Given the description of an element on the screen output the (x, y) to click on. 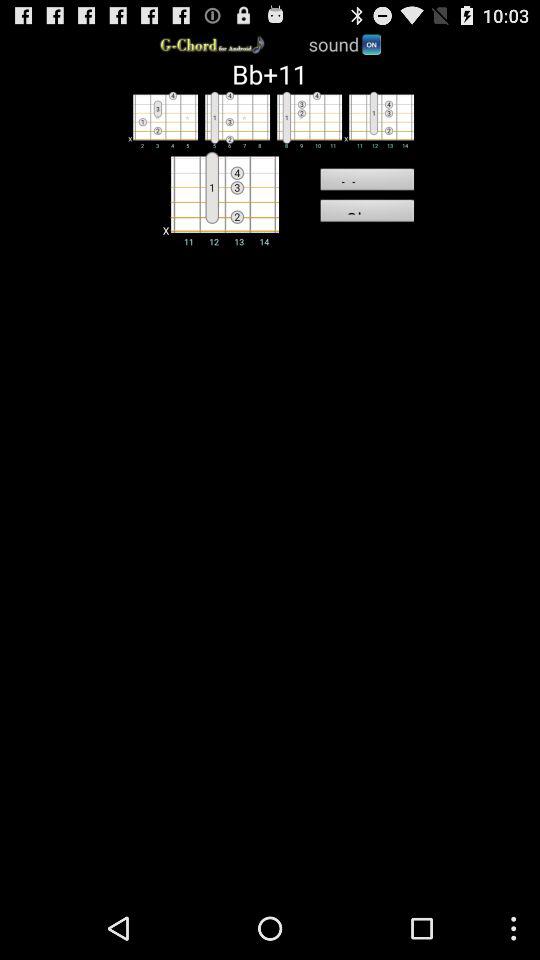
select third chord shape (306, 119)
